Given the description of an element on the screen output the (x, y) to click on. 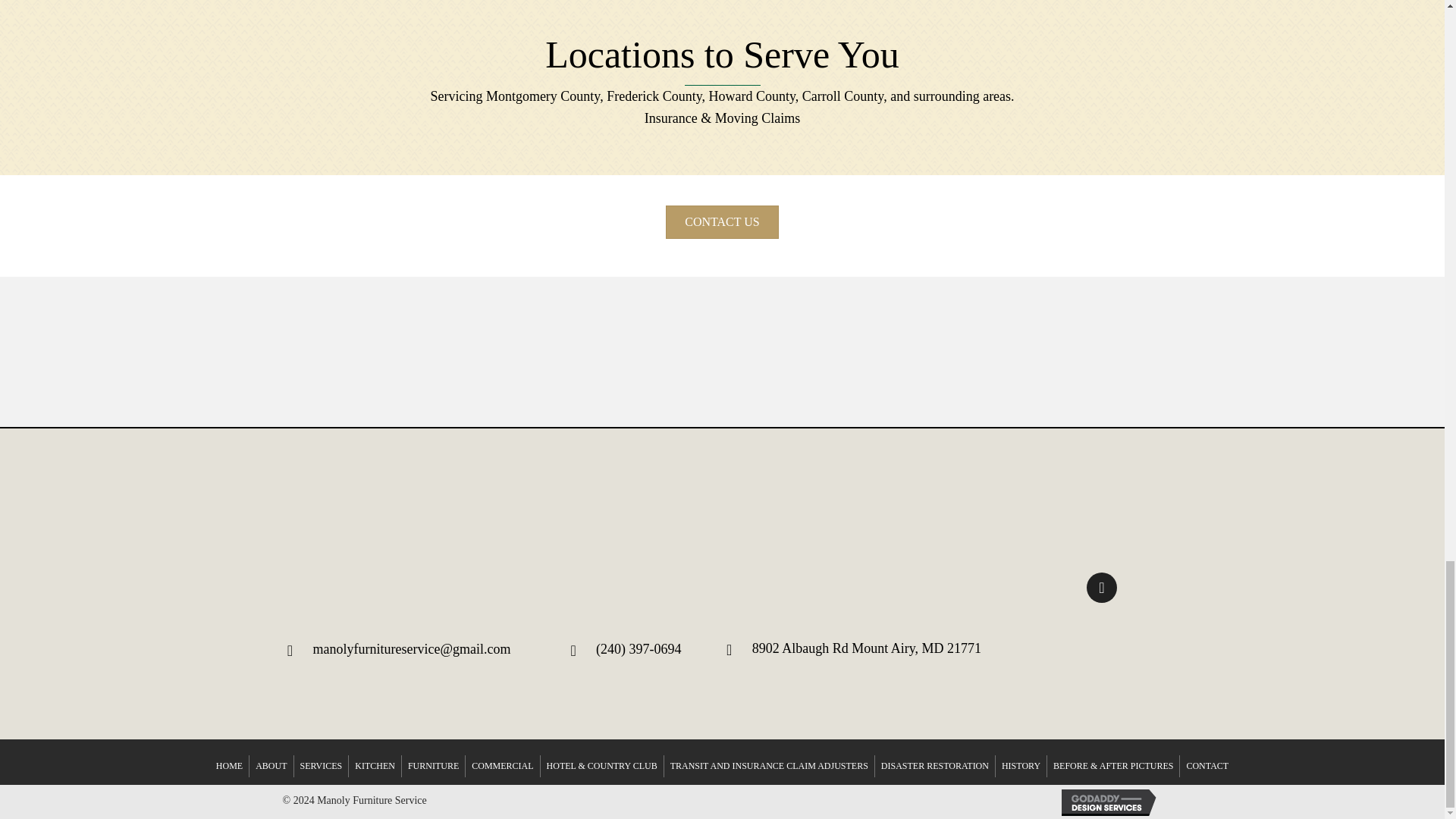
SERVICES (321, 766)
KITCHEN (375, 766)
logo (721, 500)
Facebook (1101, 587)
CONTACT (1206, 766)
COMMERCIAL (501, 766)
HOME (228, 766)
FURNITURE (432, 766)
cards (1101, 666)
TRANSIT AND INSURANCE CLAIM ADJUSTERS (769, 766)
DISASTER RESTORATION (934, 766)
HISTORY (1020, 766)
8902 Albaugh Rd Mount Airy, MD 21771 (866, 648)
CONTACT US (721, 222)
ABOUT (270, 766)
